Given the description of an element on the screen output the (x, y) to click on. 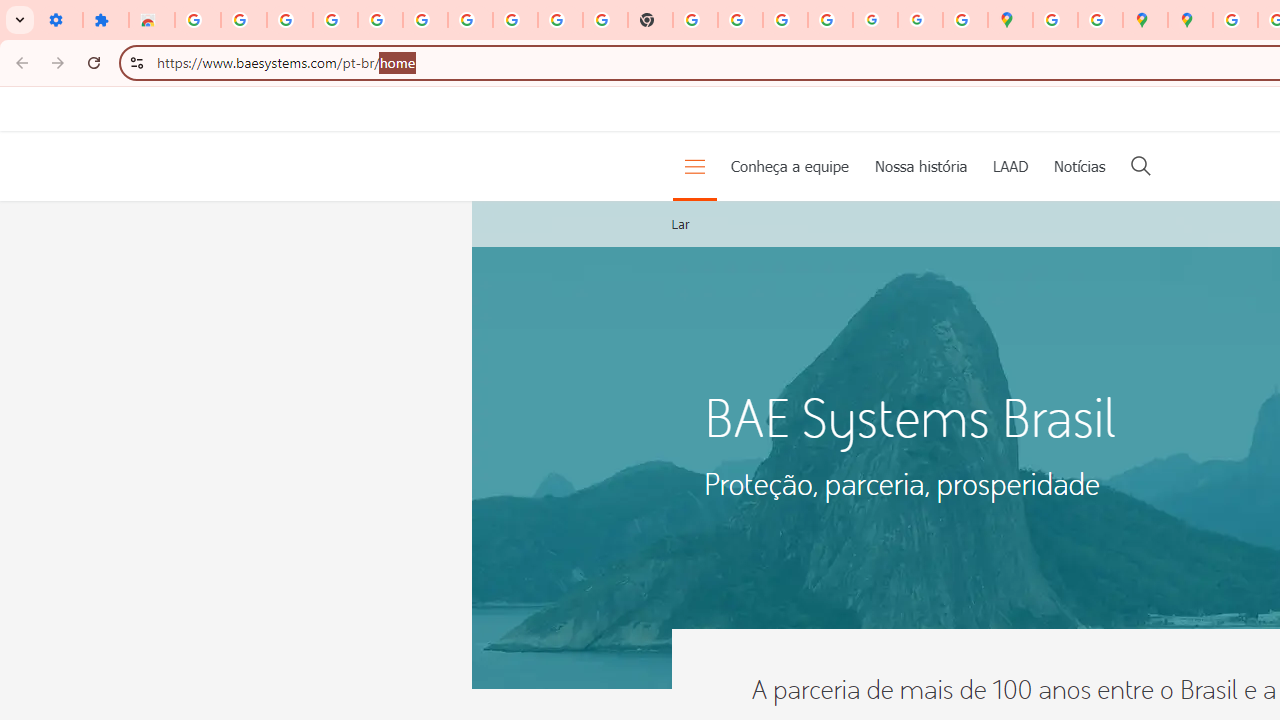
Sign in - Google Accounts (1235, 20)
YouTube (559, 20)
Sign in - Google Accounts (425, 20)
Sign in - Google Accounts (198, 20)
https://scholar.google.com/ (695, 20)
